Given the description of an element on the screen output the (x, y) to click on. 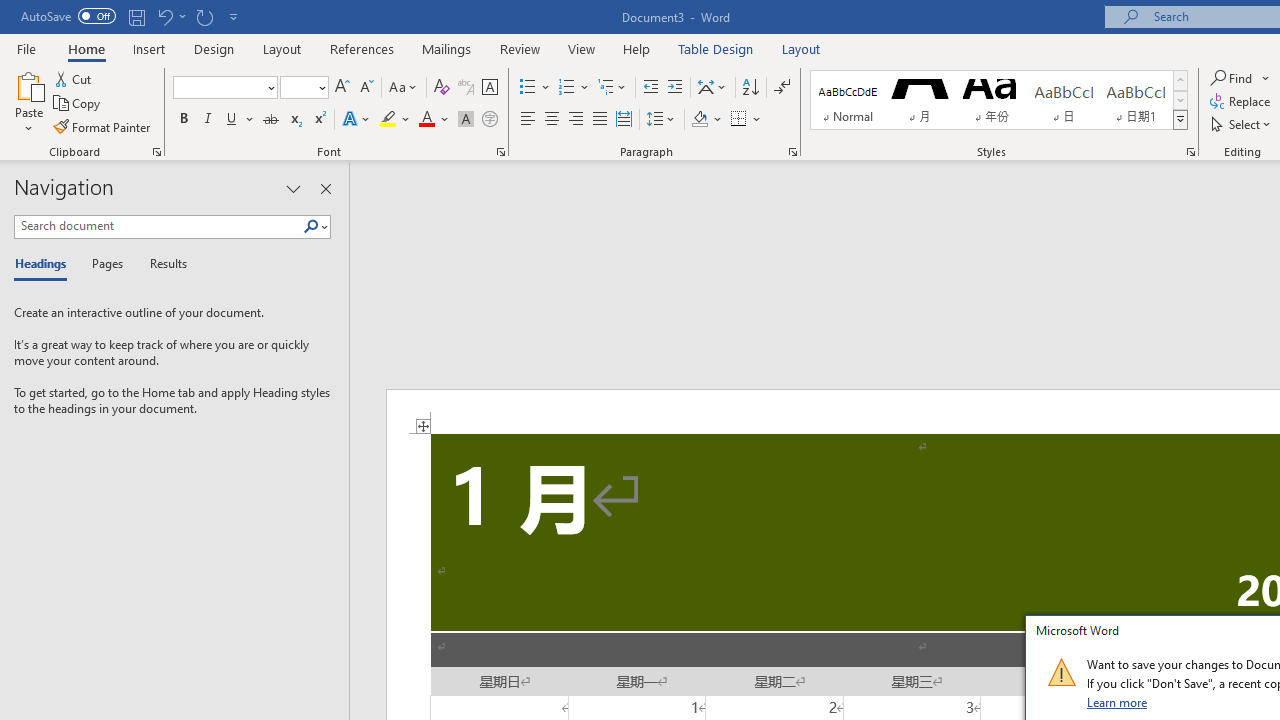
Font Color RGB(255, 0, 0) (426, 119)
